Given the description of an element on the screen output the (x, y) to click on. 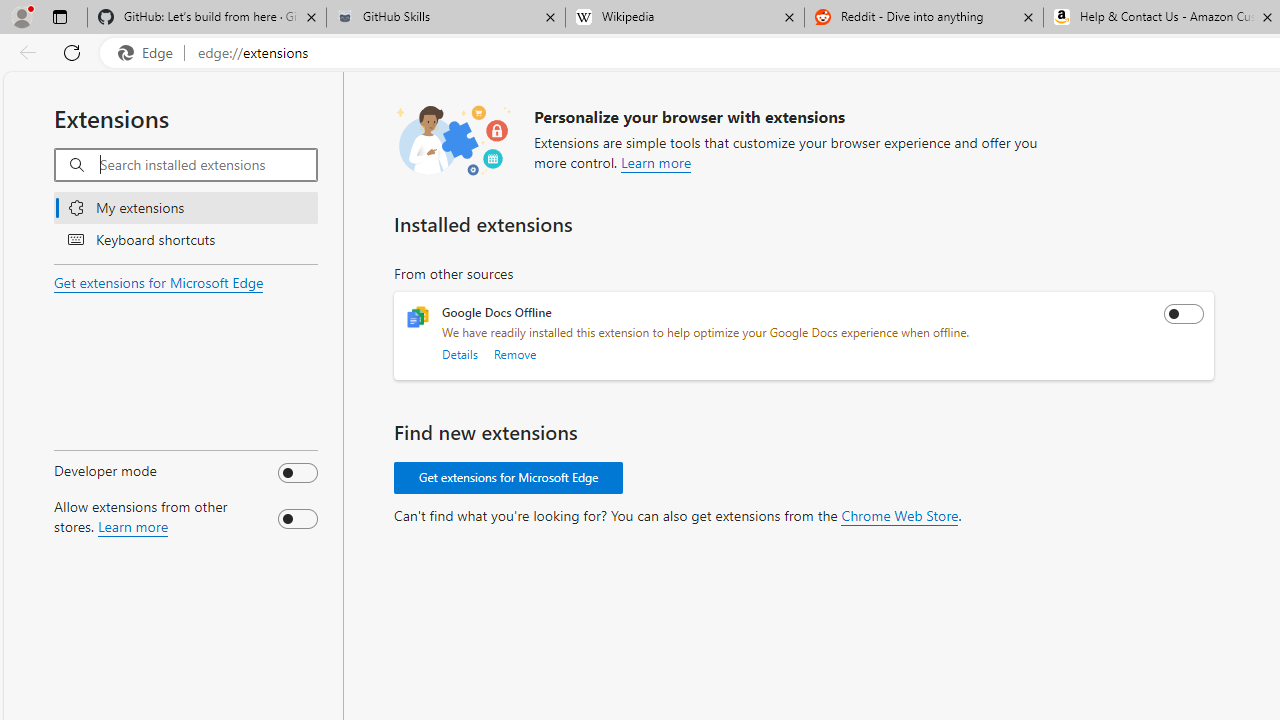
Allow extensions from other stores. (297, 519)
Get extensions for Microsoft Edge (158, 282)
Google Docs Offlineundefined Extension off (803, 336)
Google Docs Offline extension icon (417, 317)
Turn on Google Docs Offline (1183, 313)
Learn more about extensions (655, 160)
Remove (514, 354)
Developer mode (297, 472)
Edge (150, 53)
